Given the description of an element on the screen output the (x, y) to click on. 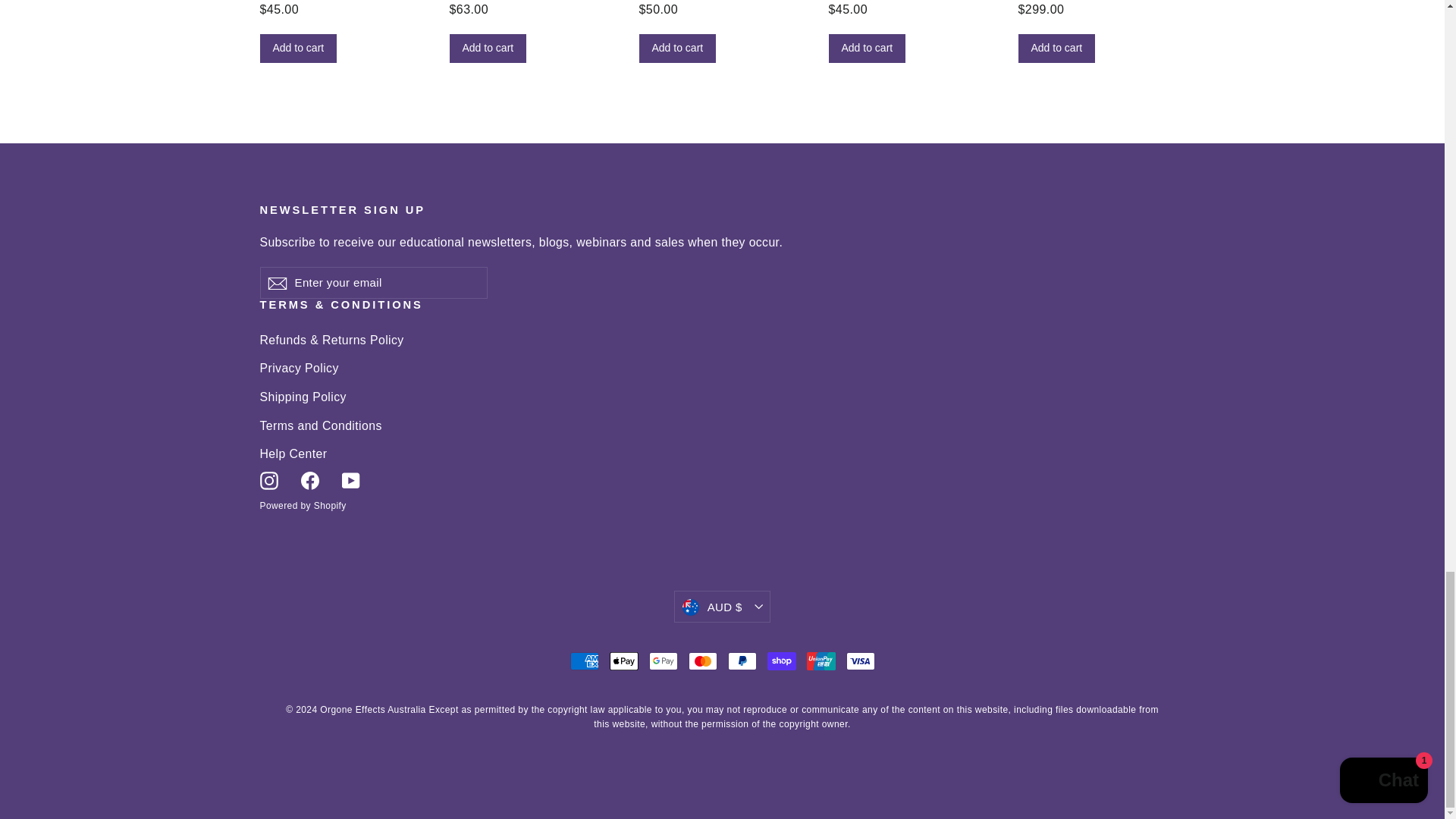
Orgone Effects Australia on Facebook (308, 480)
icon-email (276, 283)
instagram (268, 480)
